Given the description of an element on the screen output the (x, y) to click on. 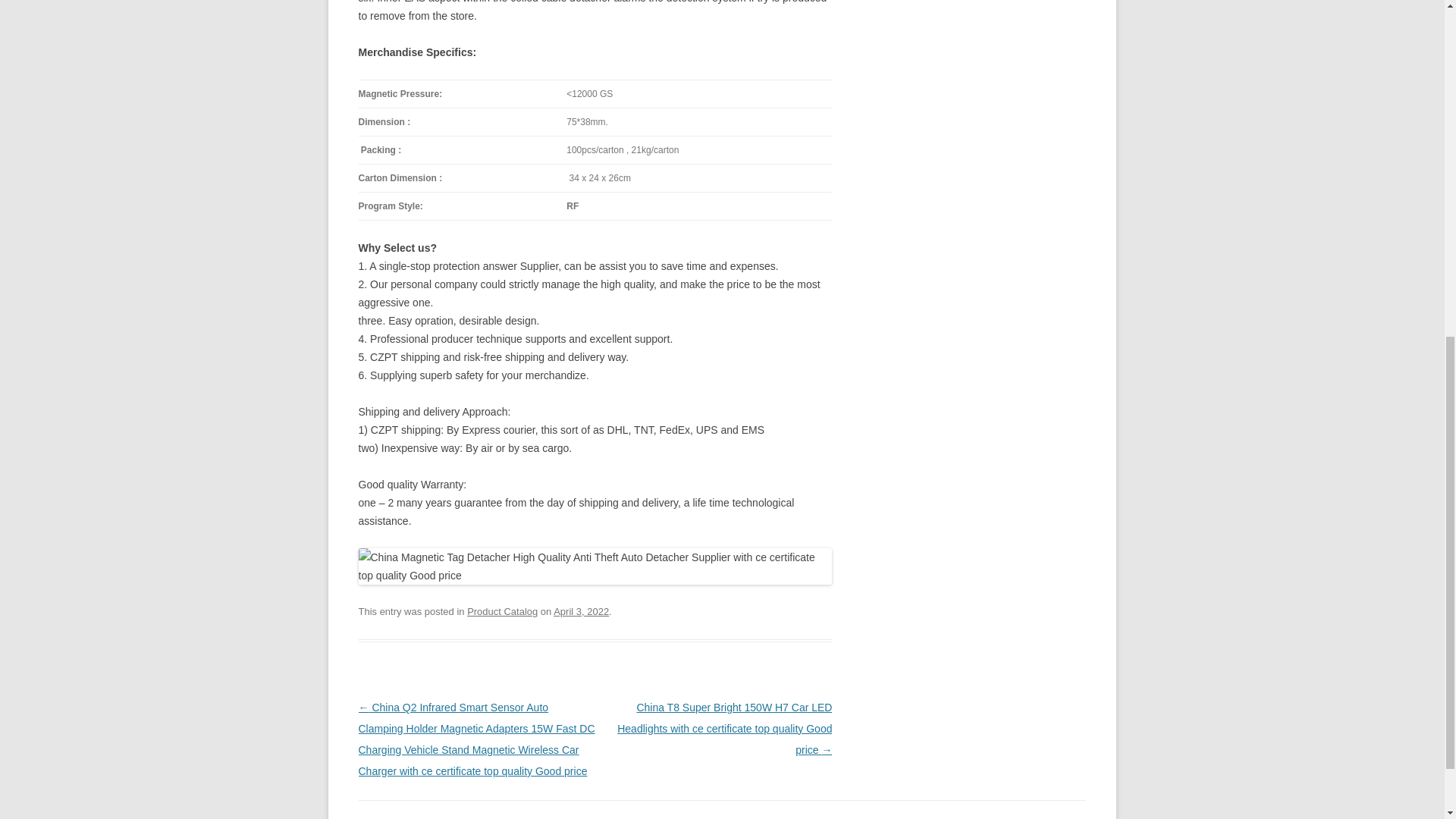
April 3, 2022 (580, 611)
Product Catalog (502, 611)
3:47 am (580, 611)
